Given the description of an element on the screen output the (x, y) to click on. 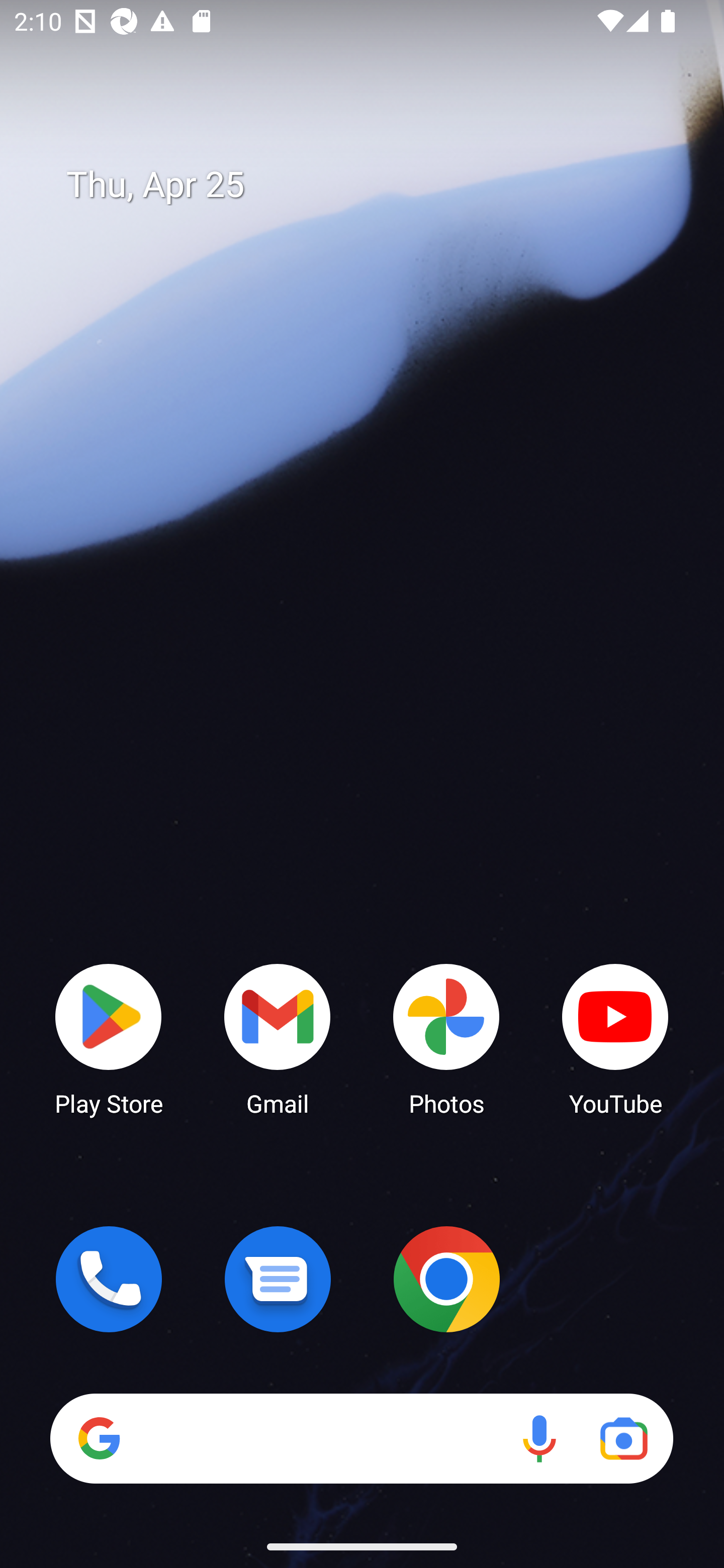
Thu, Apr 25 (375, 184)
Play Store (108, 1038)
Gmail (277, 1038)
Photos (445, 1038)
YouTube (615, 1038)
Phone (108, 1279)
Messages (277, 1279)
Chrome (446, 1279)
Search Voice search Google Lens (361, 1438)
Voice search (539, 1438)
Google Lens (623, 1438)
